Given the description of an element on the screen output the (x, y) to click on. 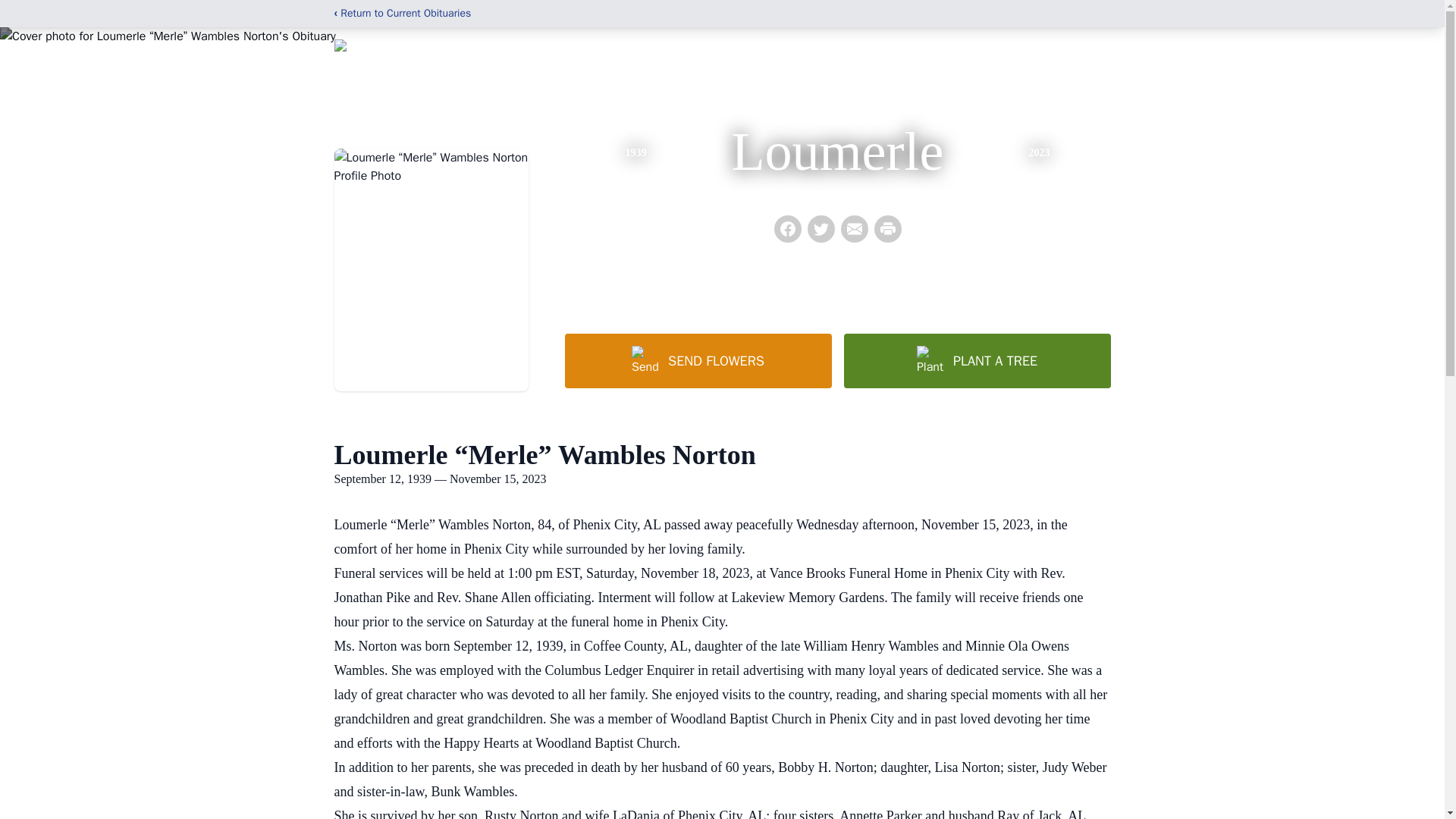
SEND FLOWERS (697, 360)
PLANT A TREE (976, 360)
